Given the description of an element on the screen output the (x, y) to click on. 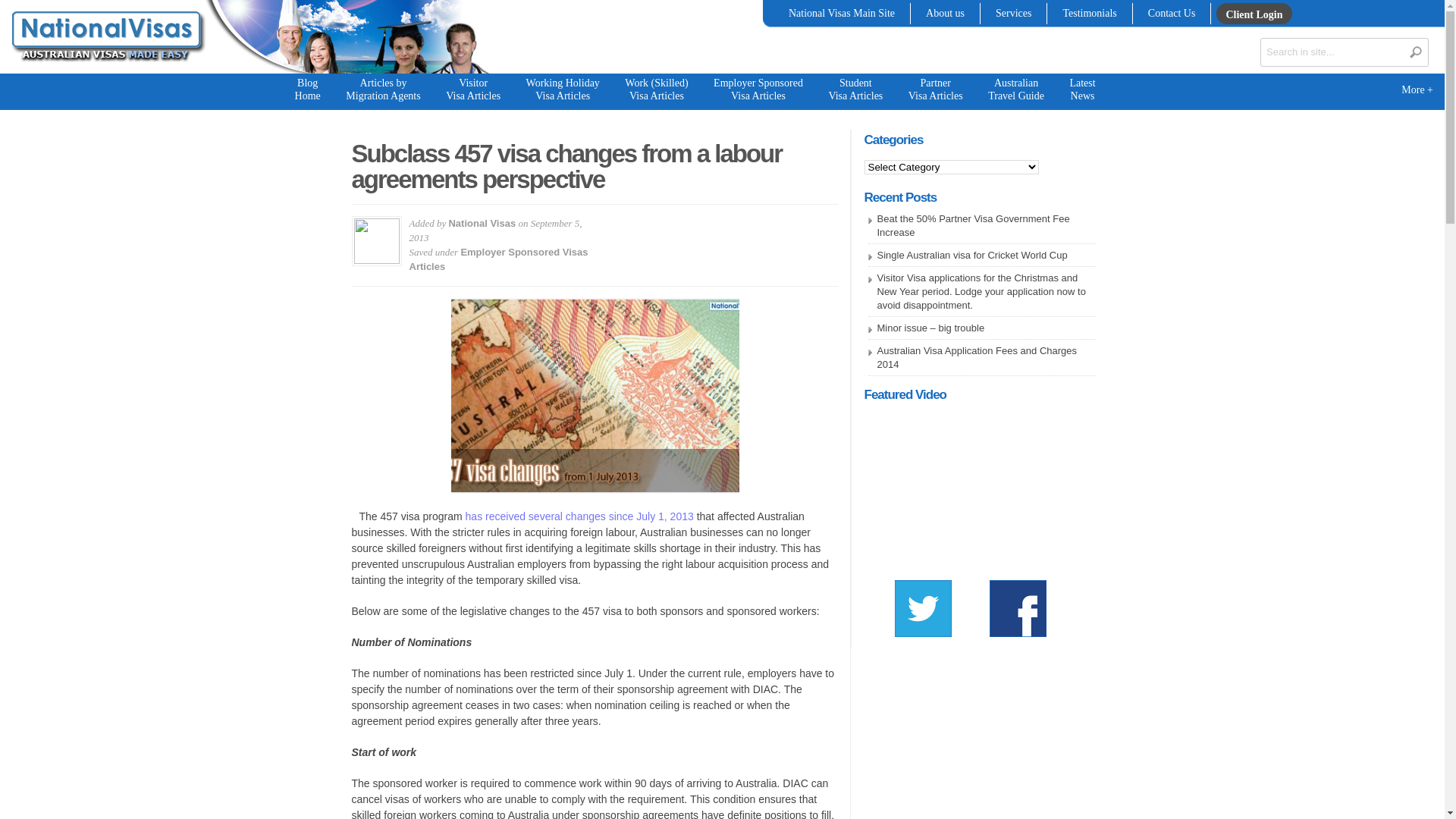
National Visas Official Blog Element type: hover (105, 71)
About us Element type: text (945, 13)
More + Element type: text (1417, 90)
Beat the 50% Partner Visa Government Fee Increase Element type: text (972, 225)
Contact Us Element type: text (1171, 13)
Working Holiday
Visa Articles Element type: text (562, 90)
Testimonials Element type: text (1089, 13)
Student
Visa Articles Element type: text (855, 90)
National Visas Element type: text (481, 223)
Latest
News Element type: text (1081, 90)
Blog
Home Element type: text (307, 90)
Australian Visa Application Fees and Charges 2014 Element type: text (976, 357)
Work (Skilled)
Visa Articles Element type: text (656, 90)
Australian
Travel Guide Element type: text (1015, 90)
Single Australian visa for Cricket World Cup Element type: text (971, 254)
Employer Sponsored Visas Articles Element type: text (498, 259)
Articles by
Migration Agents Element type: text (382, 90)
Client Login Element type: text (1253, 14)
Services Element type: text (1013, 13)
Visitor
Visa Articles Element type: text (472, 90)
Employer Sponsored
Visa Articles Element type: text (758, 90)
Partner
Visa Articles Element type: text (935, 90)
has received several changes since July 1, 2013 Element type: text (579, 516)
National Visas Main Site Element type: text (841, 13)
Australia Visa Immigration Information Element type: hover (105, 37)
